Given the description of an element on the screen output the (x, y) to click on. 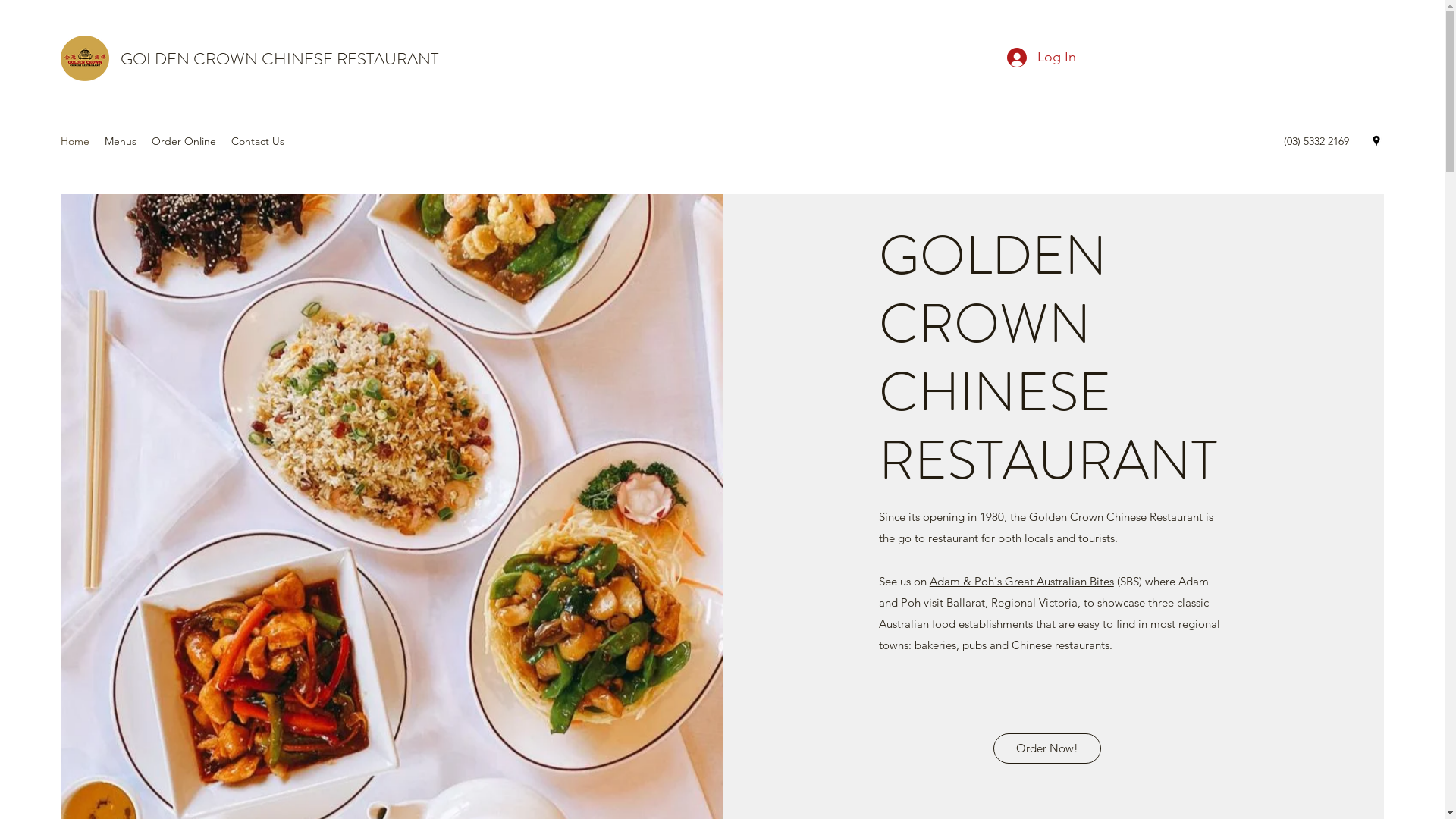
Order Now! Element type: text (1047, 748)
Menus Element type: text (120, 140)
Contact Us Element type: text (257, 140)
Order Online Element type: text (183, 140)
GOLDEN CROWN CHINESE RESTAURANT Element type: text (279, 58)
Golden Crown Chinese Restaurat logo Element type: hover (84, 58)
Adam & Poh's Great Australian Bites Element type: text (1021, 581)
(SBS) where  Element type: text (1145, 581)
Log In Element type: text (1041, 57)
Home Element type: text (75, 140)
